Given the description of an element on the screen output the (x, y) to click on. 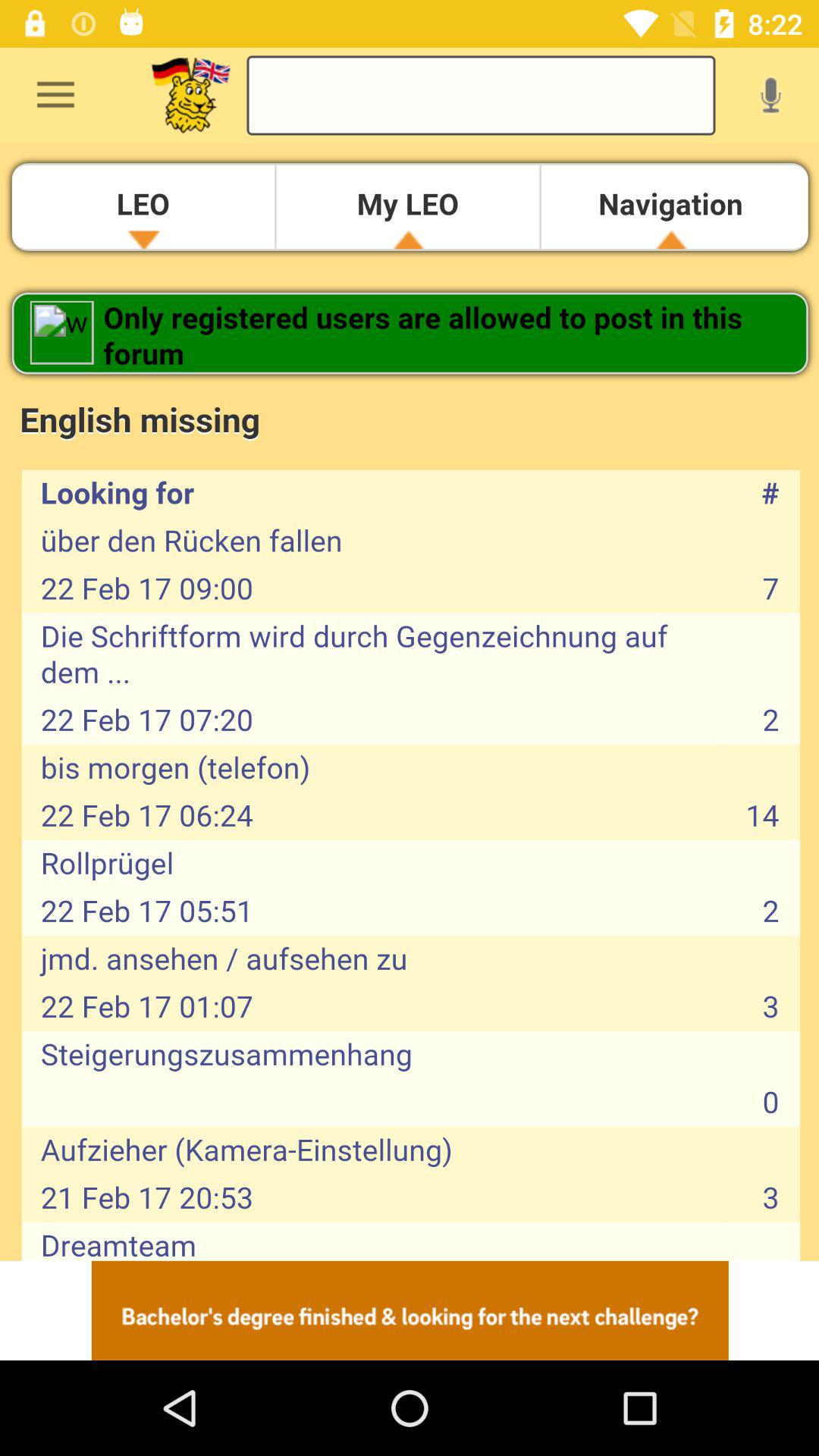
advertisement banner (409, 1310)
